Given the description of an element on the screen output the (x, y) to click on. 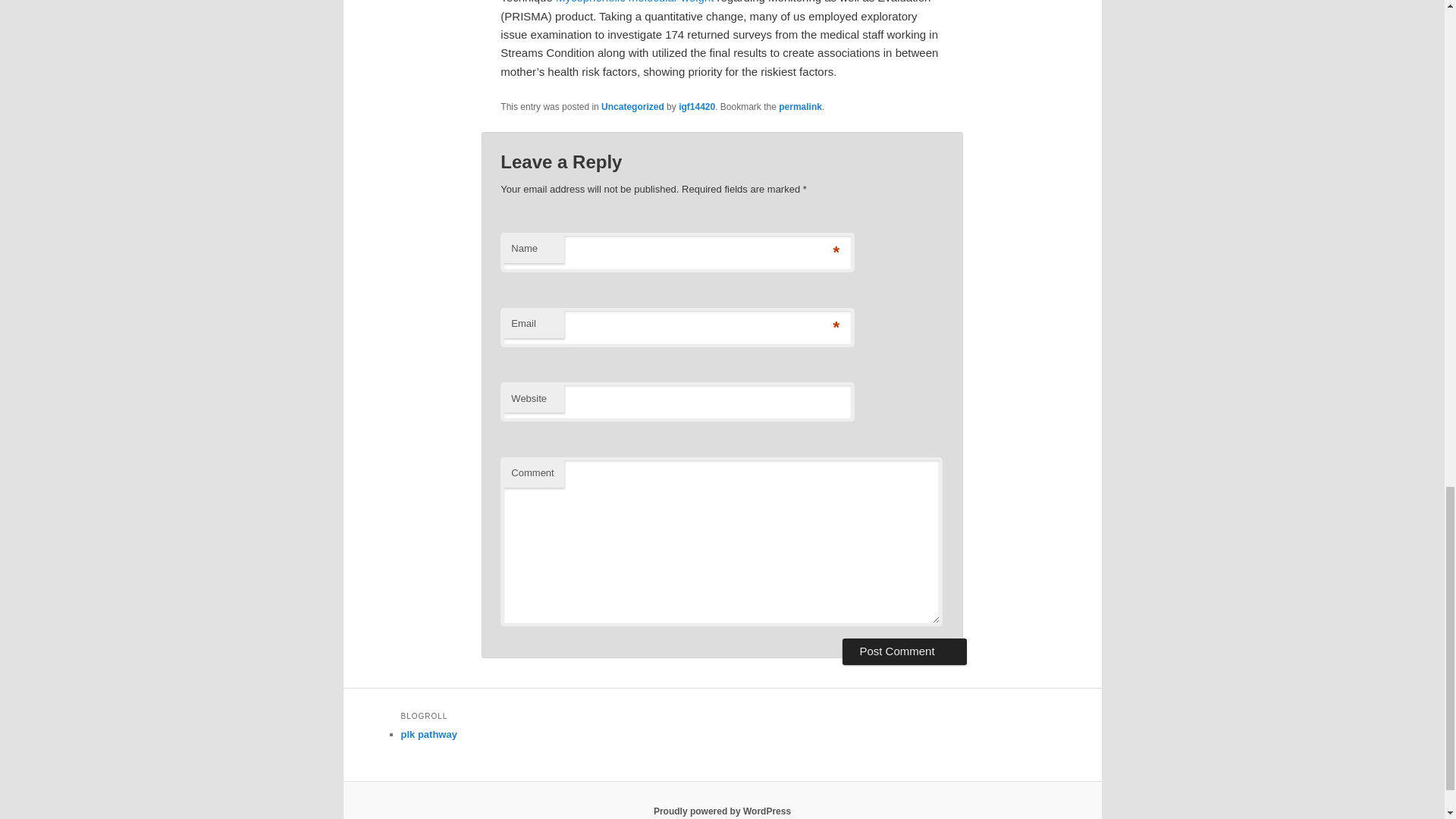
Semantic Personal Publishing Platform (721, 810)
igf14420 (696, 106)
Proudly powered by WordPress (721, 810)
permalink (800, 106)
Post Comment (904, 651)
Mycophenolic molecular weight (634, 2)
Uncategorized (632, 106)
View all posts in Uncategorized (632, 106)
plk pathway (428, 734)
Post Comment (904, 651)
